Given the description of an element on the screen output the (x, y) to click on. 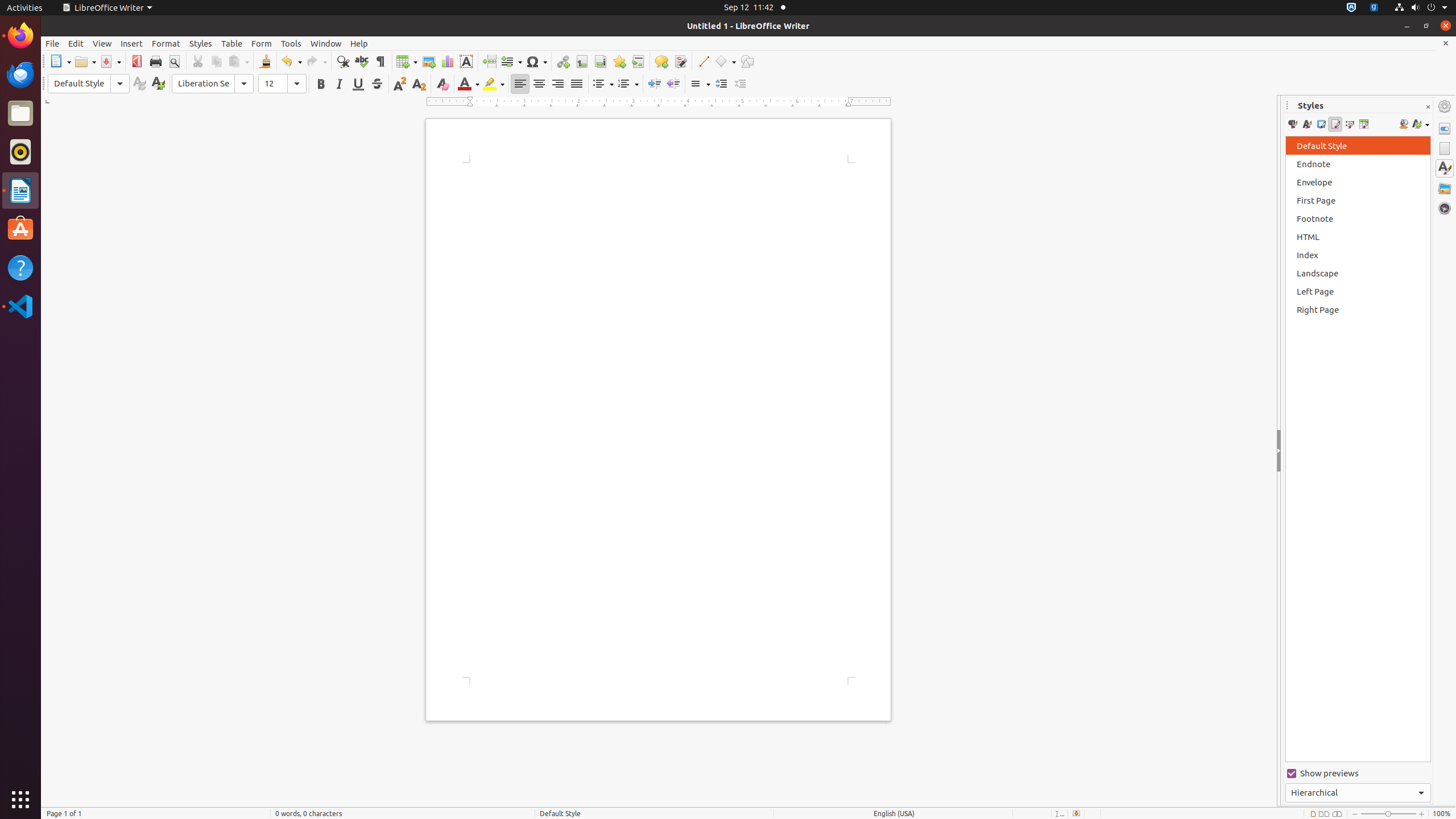
Bold Element type: toggle-button (320, 83)
Symbol Element type: push-button (535, 61)
Rhythmbox Element type: push-button (20, 151)
Chart Element type: push-button (446, 61)
Font Name Element type: combo-box (212, 83)
